Given the description of an element on the screen output the (x, y) to click on. 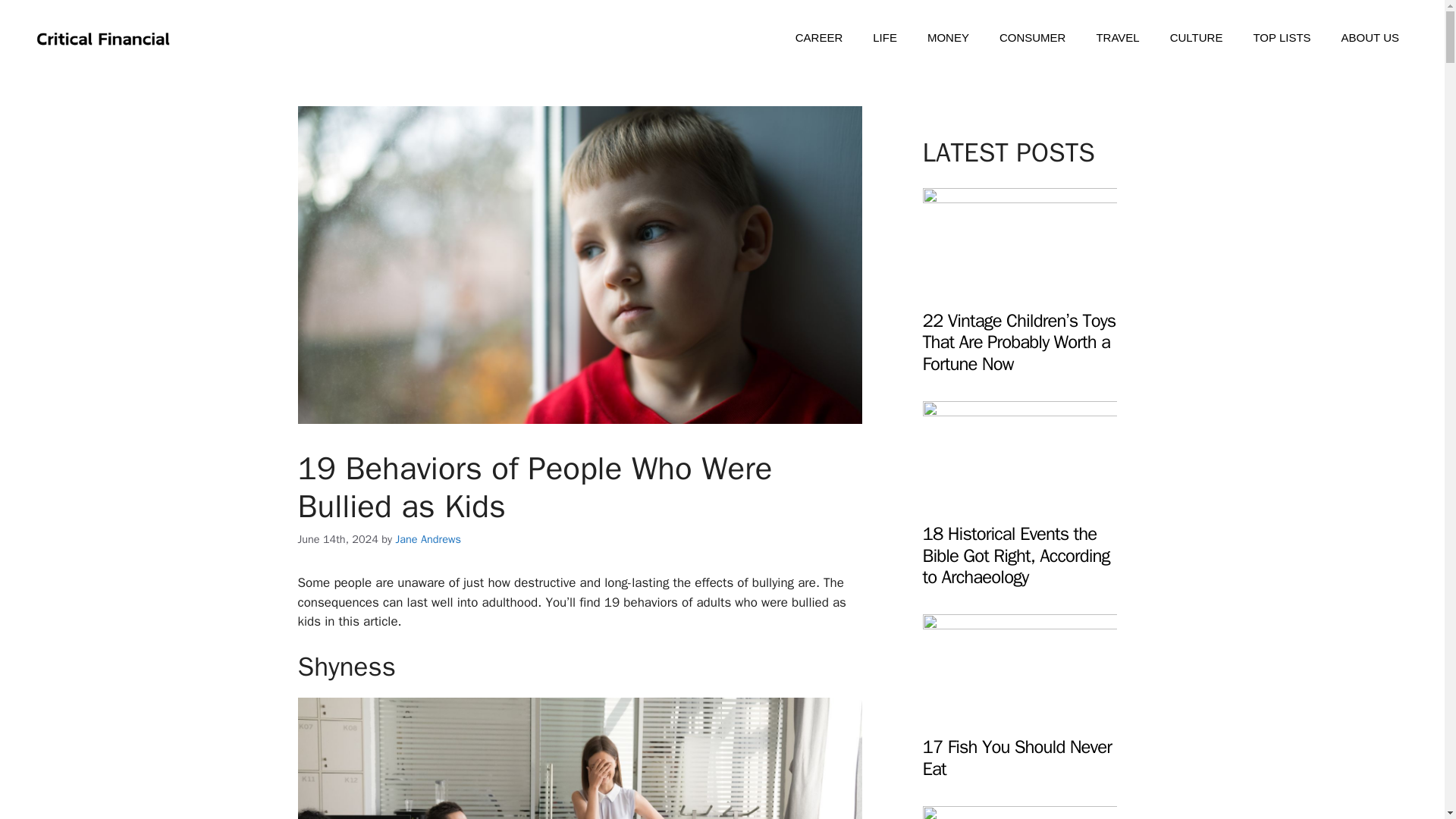
LIFE (884, 37)
ABOUT US (1369, 37)
CONSUMER (1032, 37)
View all posts by Jane Andrews (427, 539)
Jane Andrews (427, 539)
TOP LISTS (1280, 37)
TRAVEL (1117, 37)
CULTURE (1196, 37)
17 Fish You Should Never Eat (1018, 713)
